Given the description of an element on the screen output the (x, y) to click on. 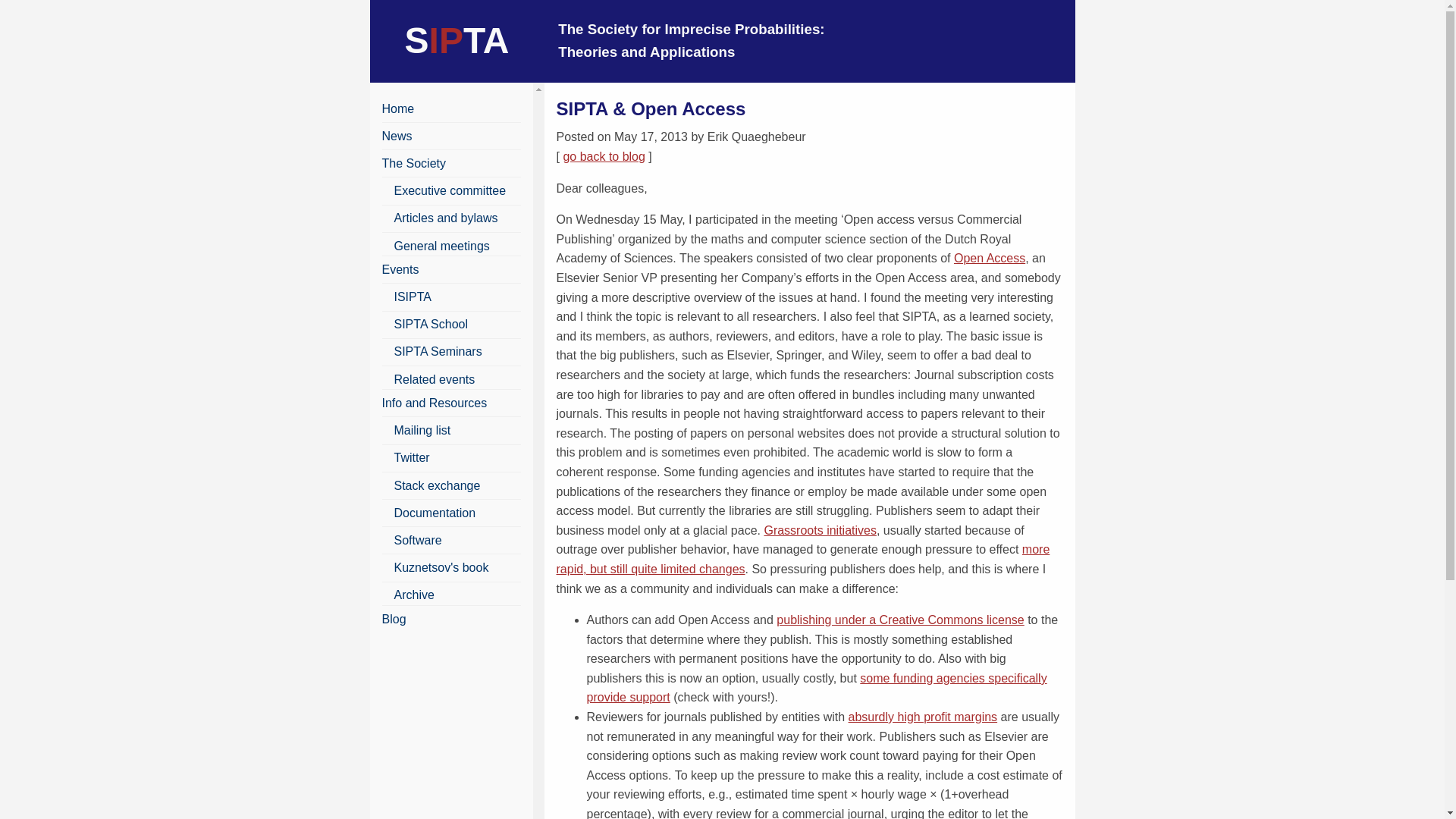
Related events (435, 379)
Blog (393, 618)
ISIPTA (413, 296)
Twitter (411, 457)
Software (418, 540)
SIPTA School (431, 323)
Articles and bylaws (445, 217)
Kuznetsov's book (441, 567)
Open Access (989, 257)
News (396, 135)
SIPTA (456, 40)
Stack exchange (437, 485)
Documentation (435, 512)
absurdly high profit margins (922, 716)
SIPTA Seminars (437, 350)
